Given the description of an element on the screen output the (x, y) to click on. 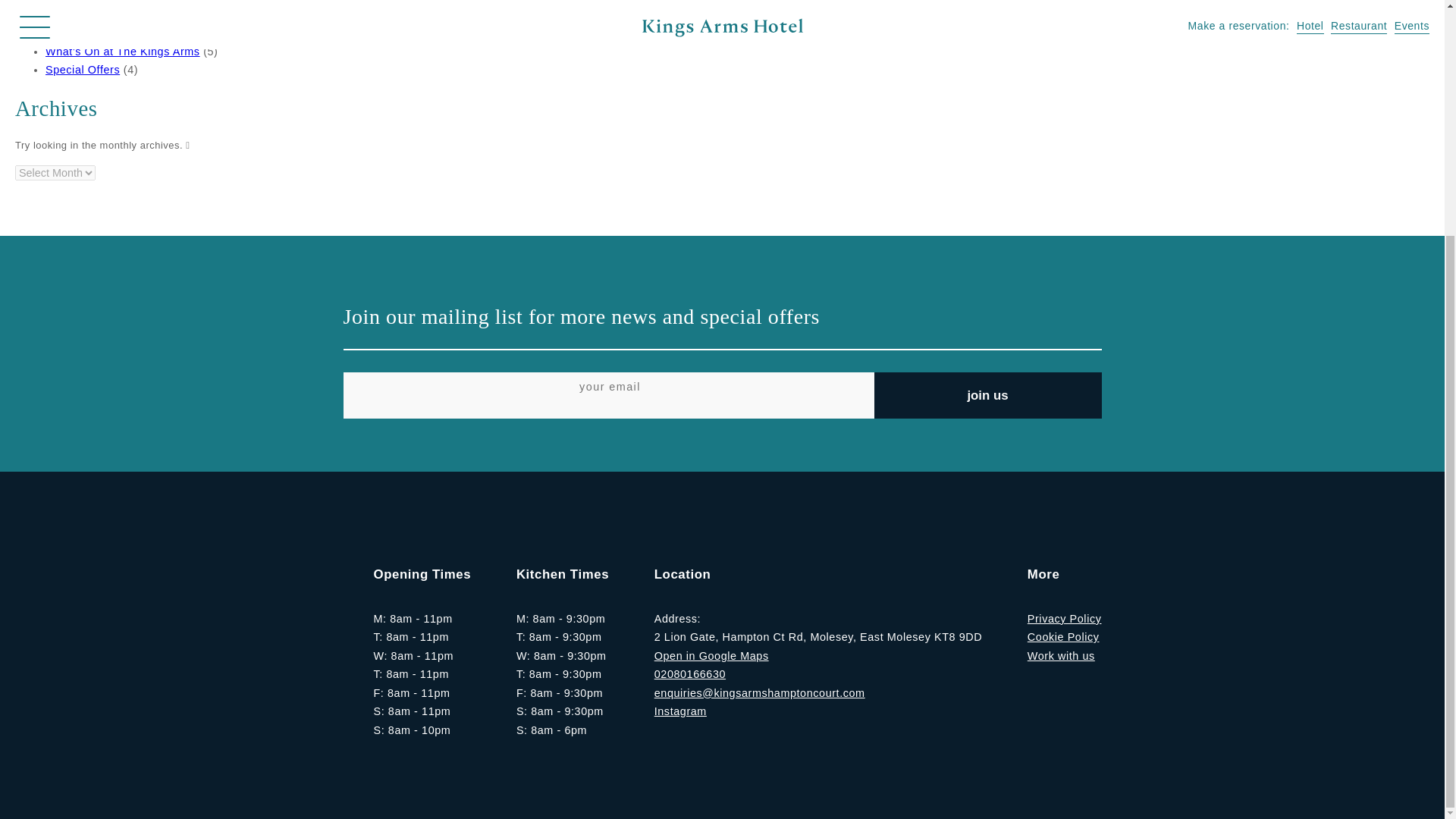
Instagram (679, 711)
Privacy Policy (1064, 618)
02080166630 (689, 674)
Open in Google Maps (710, 655)
Special Offers (82, 69)
What's On at The Kings Arms (122, 51)
Work with us (1060, 655)
Cookie Policy (1063, 636)
join us (986, 395)
